Given the description of an element on the screen output the (x, y) to click on. 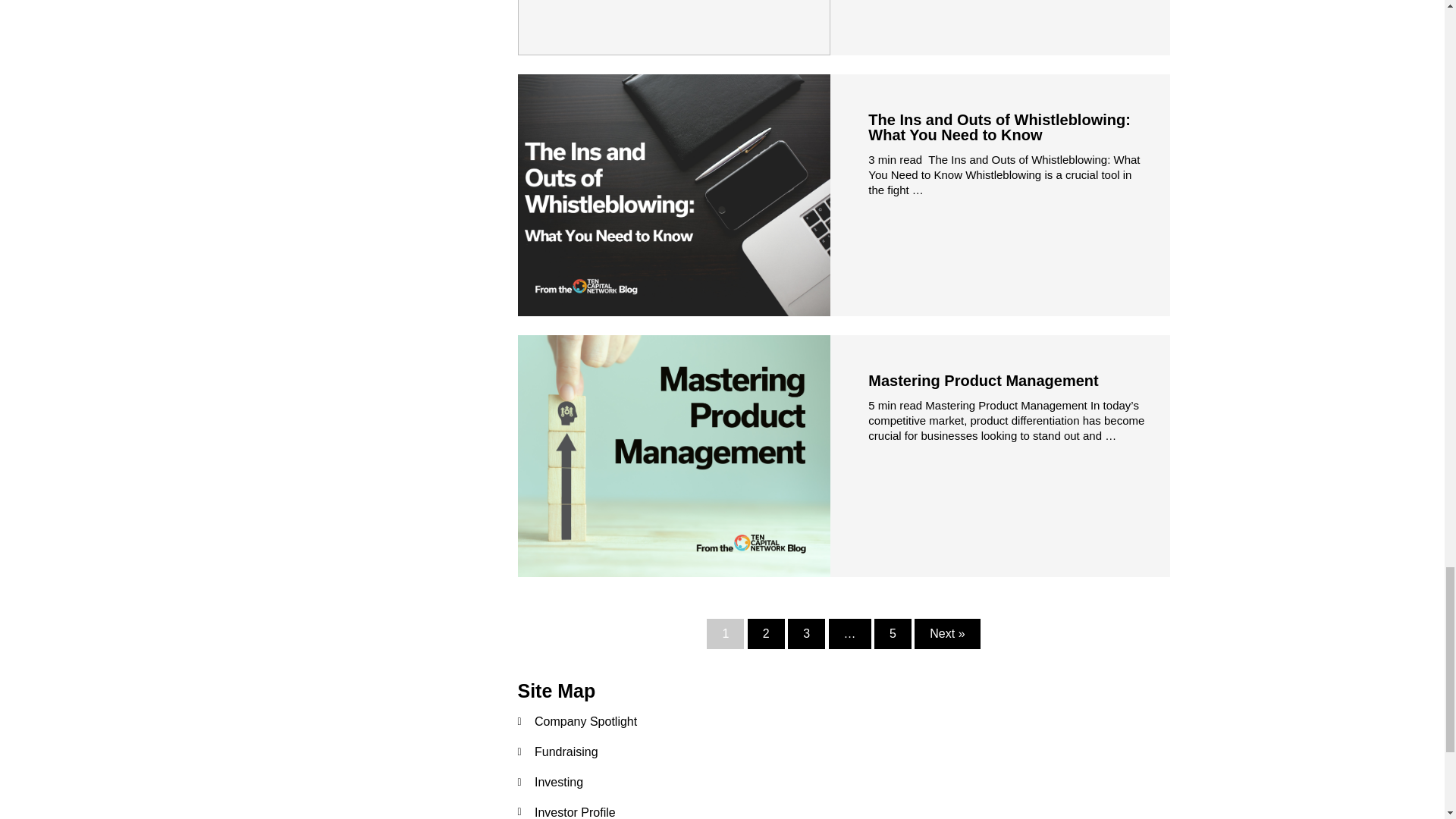
Mastering Product Management (982, 380)
5 (893, 634)
Investor Profile (842, 810)
The Ins and Outs of Whistleblowing: What You Need to Know (999, 127)
3 (806, 634)
Fundraising (842, 752)
2 (766, 634)
Company Spotlight (842, 721)
Investing (842, 782)
